Given the description of an element on the screen output the (x, y) to click on. 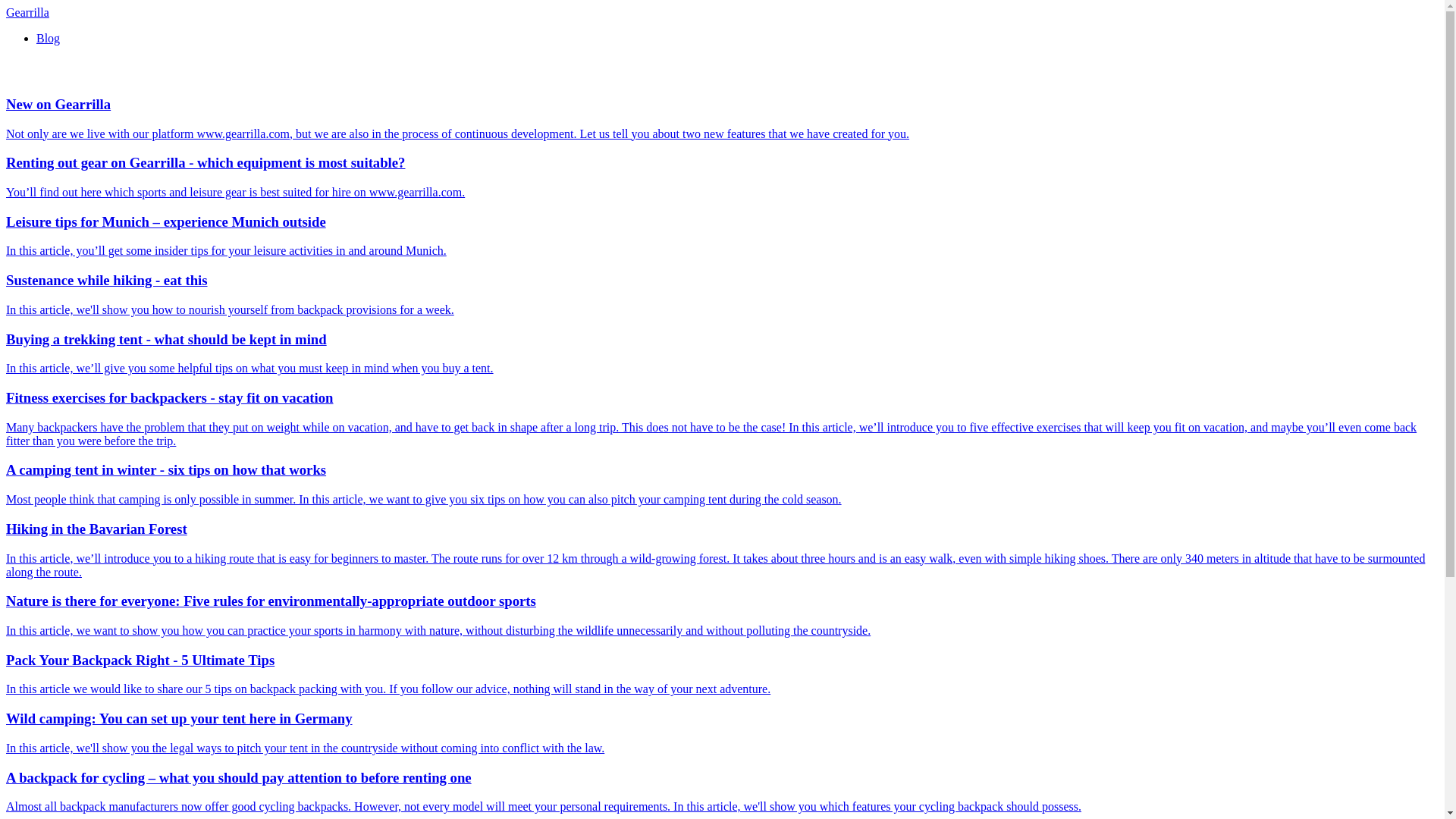
Blog (47, 38)
Gearrilla (27, 11)
